Given the description of an element on the screen output the (x, y) to click on. 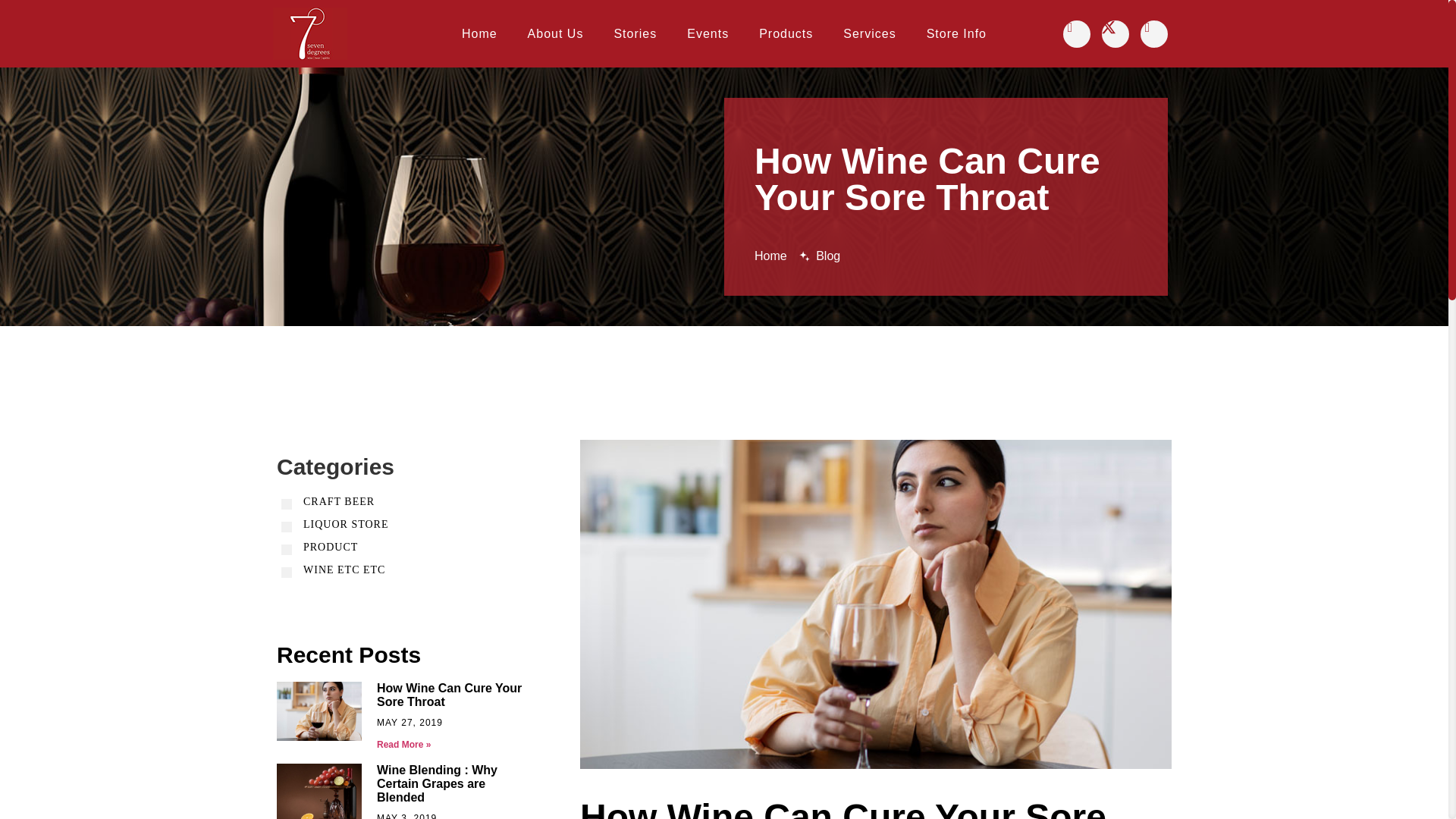
About Us (555, 33)
CRAFT BEER (338, 501)
Home (479, 33)
PRODUCT (330, 546)
How Wine Can Cure Your Sore Throat (449, 694)
Home (770, 255)
WINE ETC ETC (343, 569)
Products (786, 33)
Stories (634, 33)
Events (707, 33)
LIQUOR STORE (345, 523)
Blog (820, 255)
Services (869, 33)
Wine Blending : Why Certain Grapes are Blended (437, 783)
Store Info (956, 33)
